Given the description of an element on the screen output the (x, y) to click on. 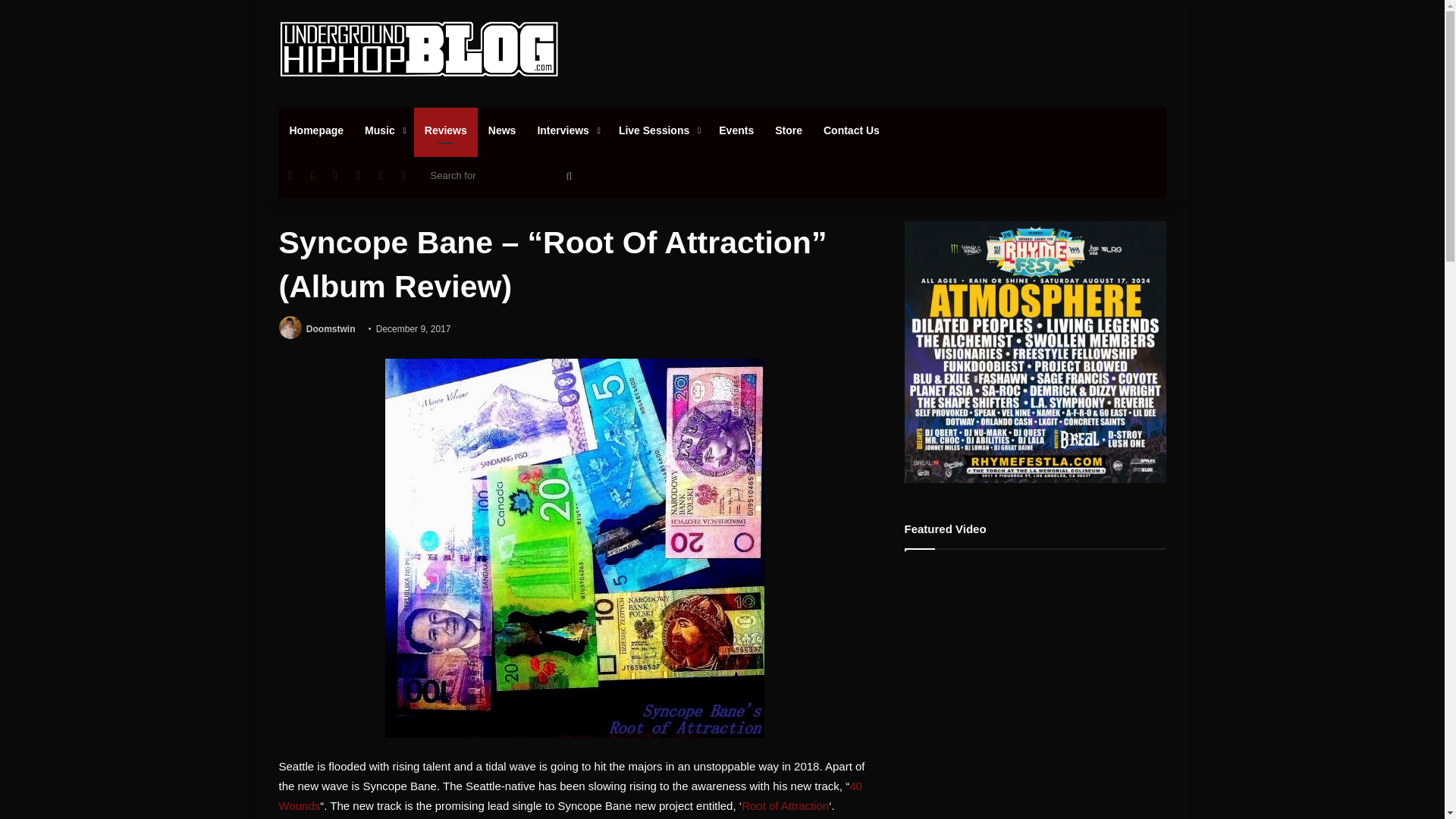
Reviews (445, 130)
Events (735, 130)
Root of Attraction (784, 805)
Homepage (317, 130)
Doomstwin (330, 328)
Search for (499, 175)
Contact Us (850, 130)
Advertisement (873, 49)
News (502, 130)
Live Sessions (657, 130)
